Given the description of an element on the screen output the (x, y) to click on. 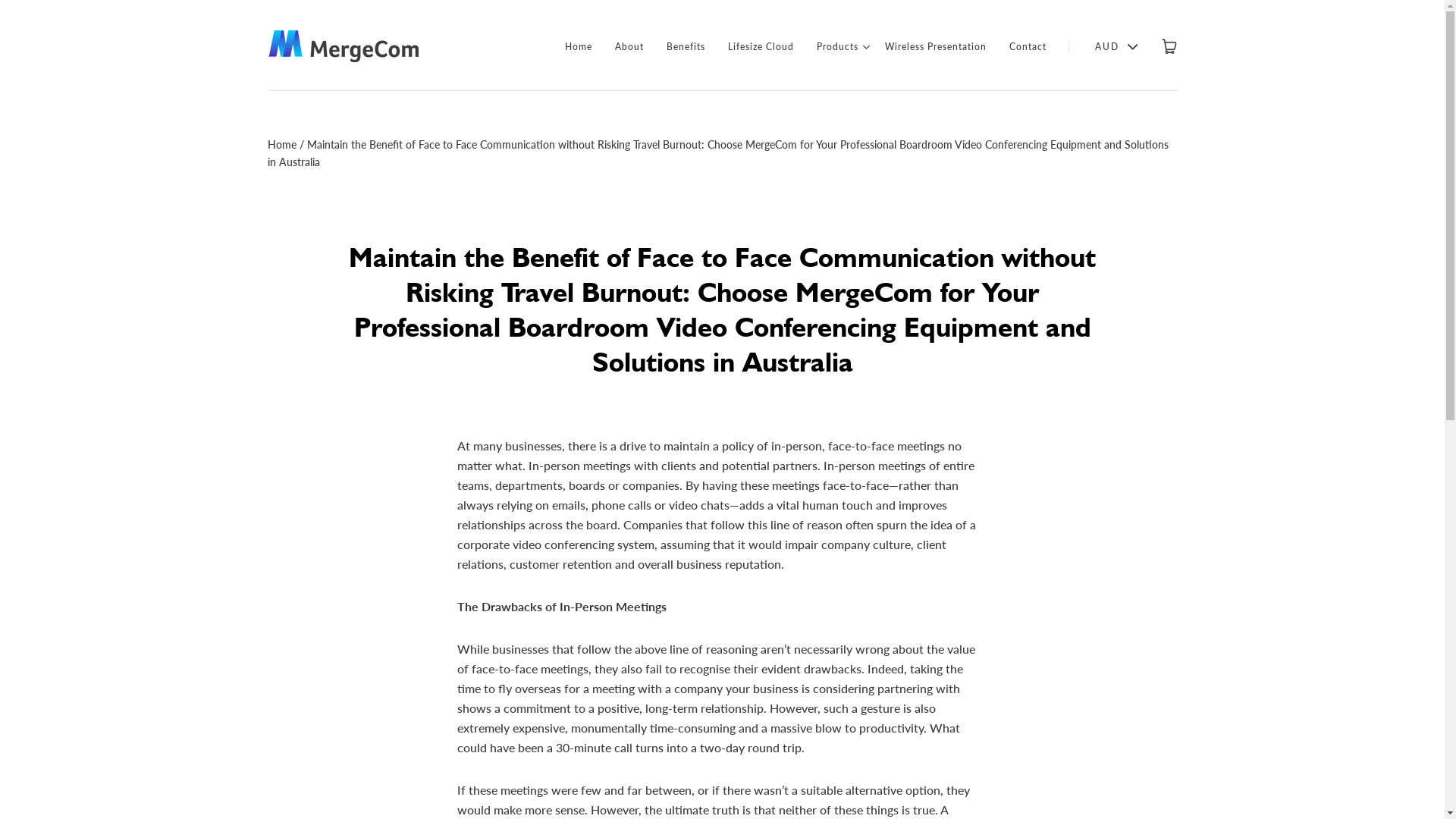
Benefits Element type: text (684, 46)
Home Element type: text (280, 144)
About Element type: text (628, 46)
Wireless Presentation Element type: text (934, 46)
Home Element type: text (577, 46)
Contact Element type: text (1026, 46)
Lifesize Cloud Element type: text (760, 46)
Products Element type: text (836, 46)
